Given the description of an element on the screen output the (x, y) to click on. 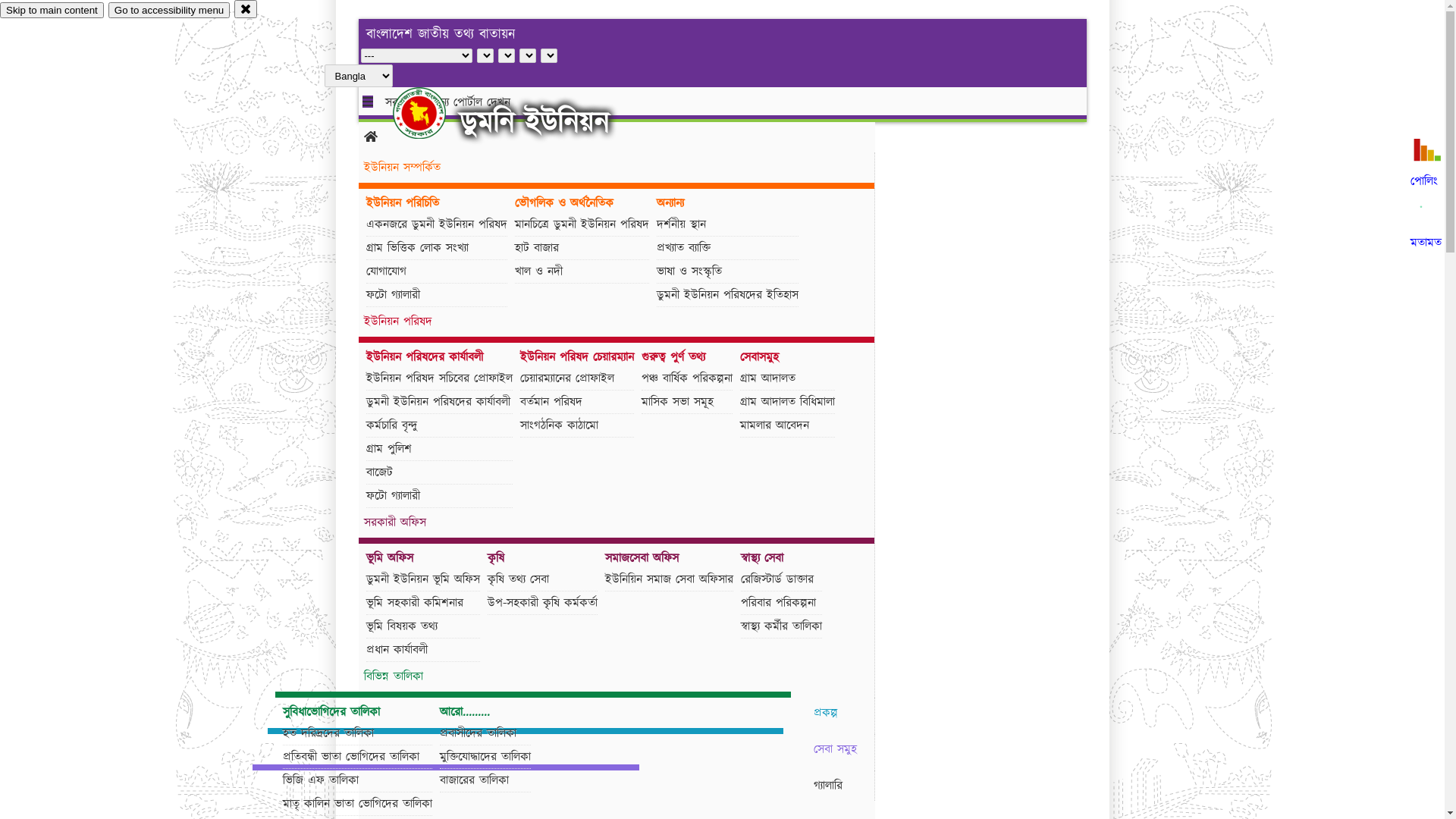
close Element type: hover (245, 9)
Go to accessibility menu Element type: text (168, 10)

                
             Element type: hover (431, 112)
Skip to main content Element type: text (51, 10)
